Given the description of an element on the screen output the (x, y) to click on. 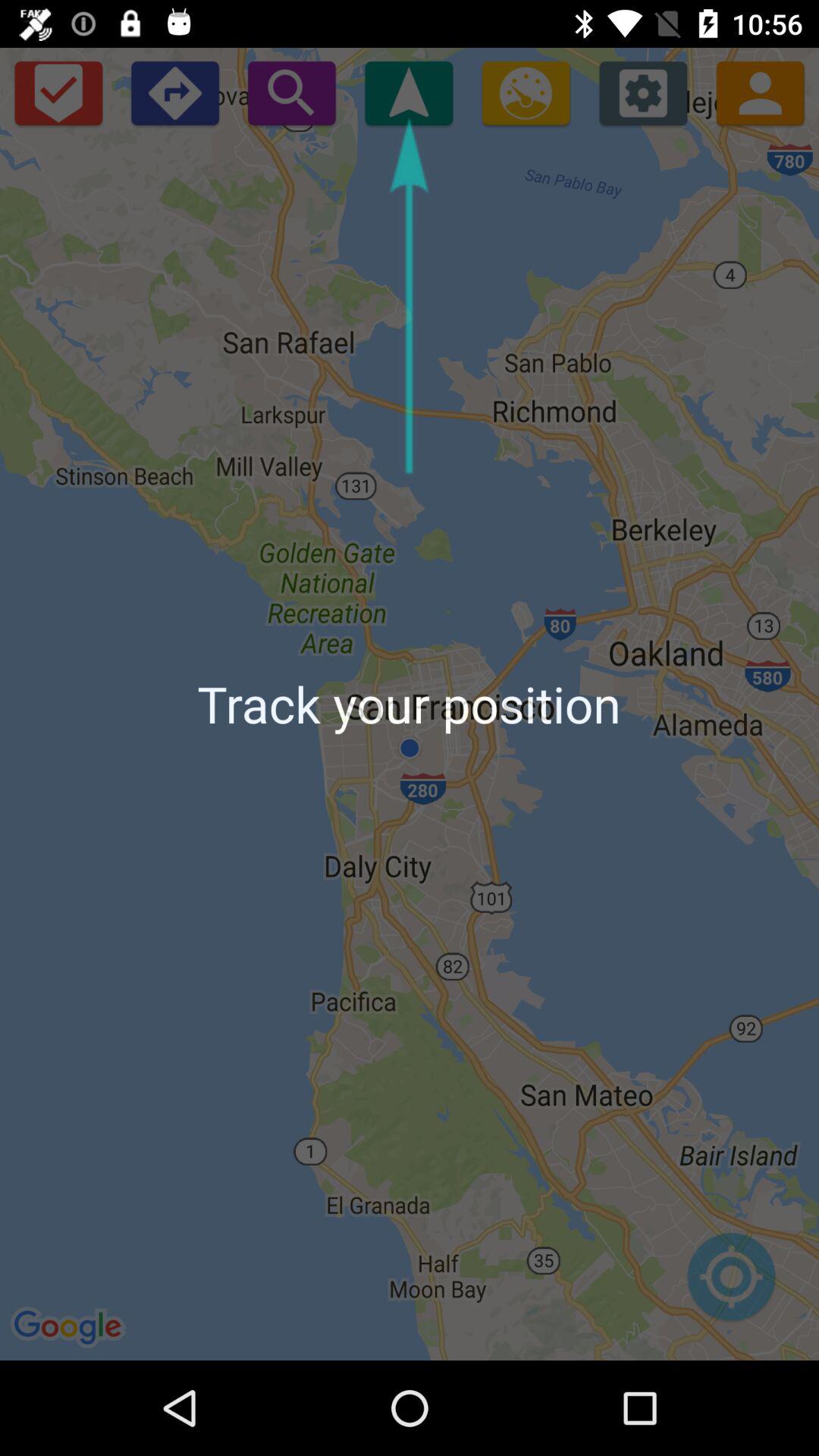
contact us (760, 92)
